Given the description of an element on the screen output the (x, y) to click on. 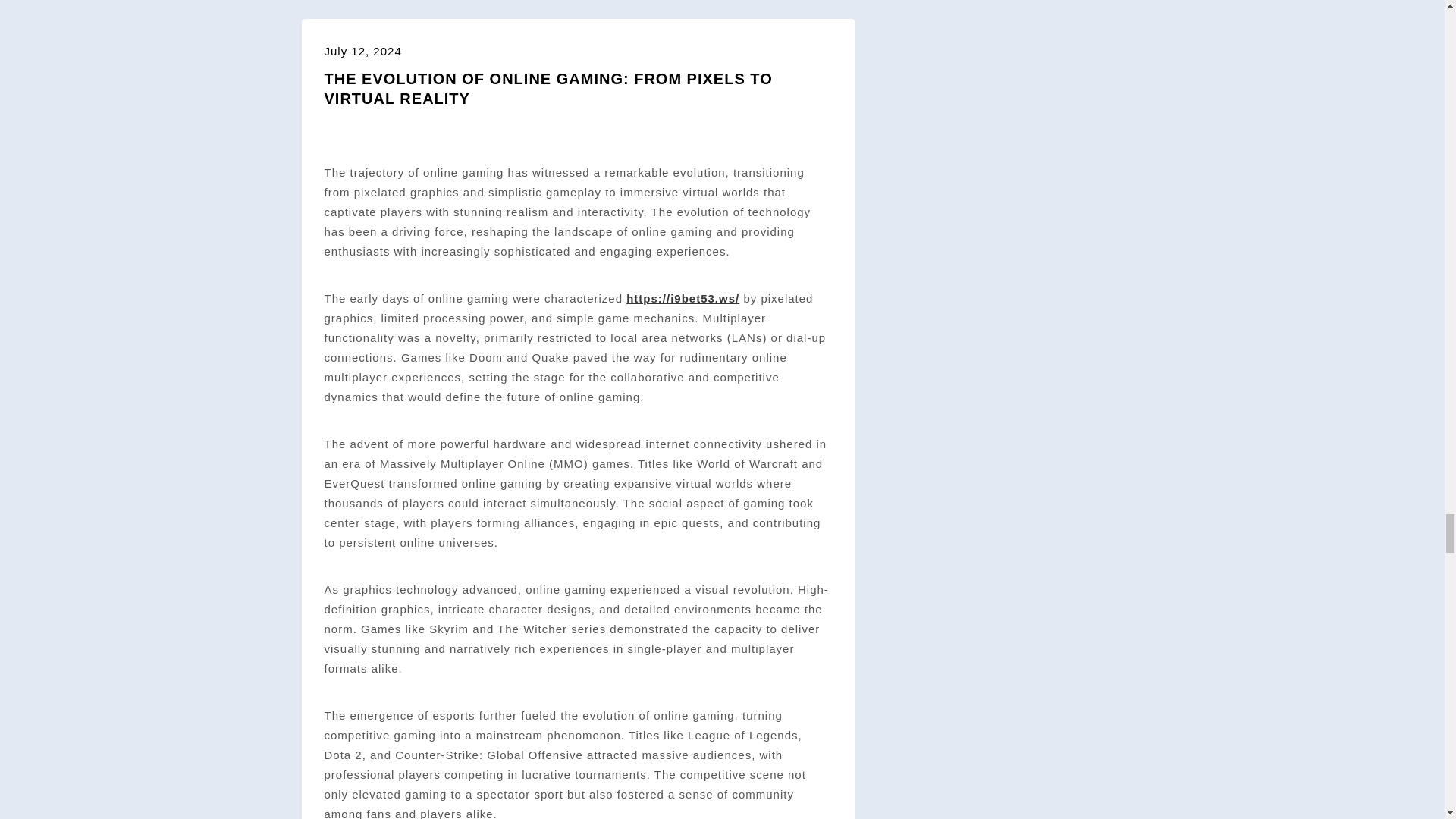
July 12, 2024 (362, 51)
